Given the description of an element on the screen output the (x, y) to click on. 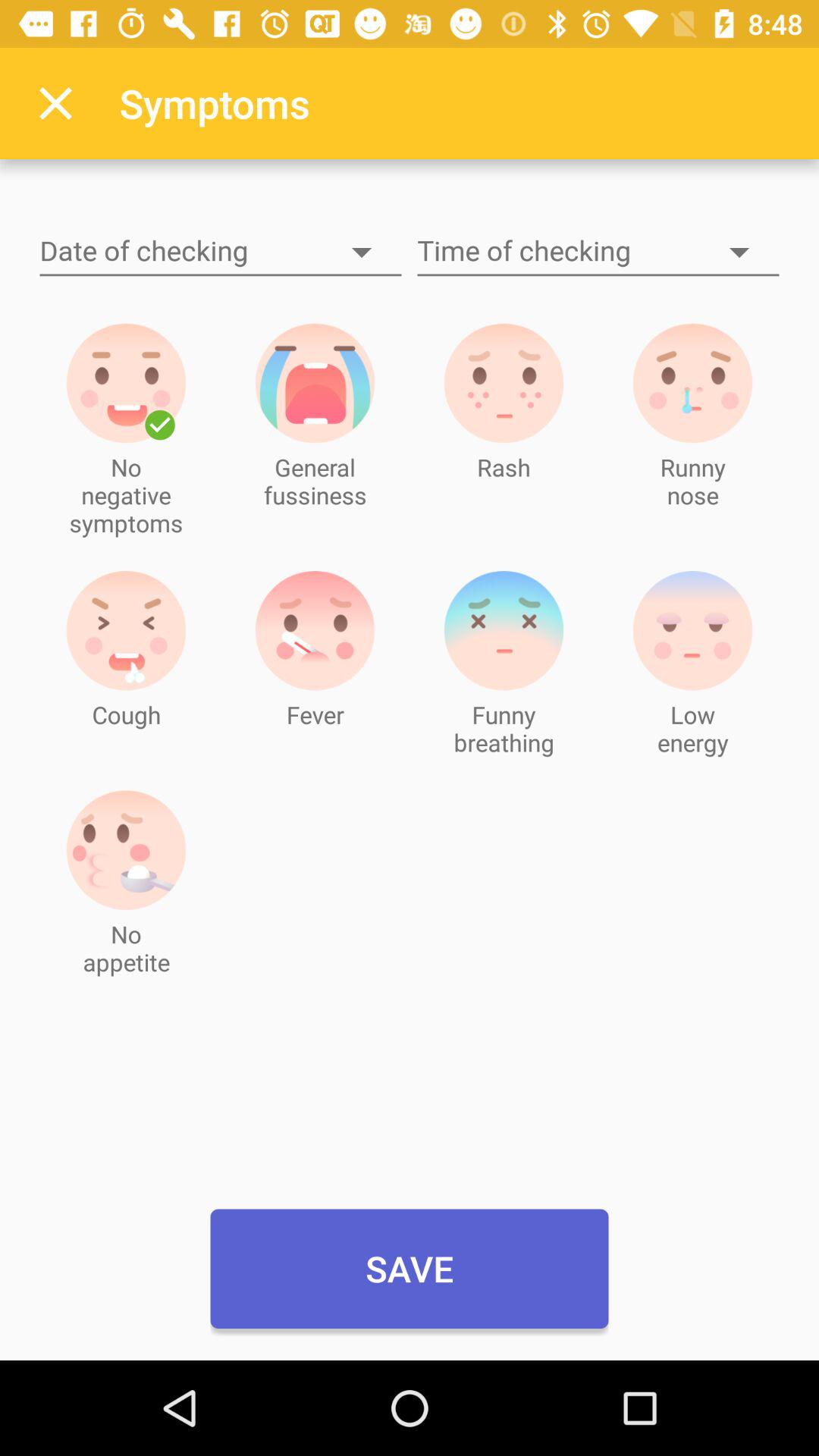
date drop down list (220, 251)
